Given the description of an element on the screen output the (x, y) to click on. 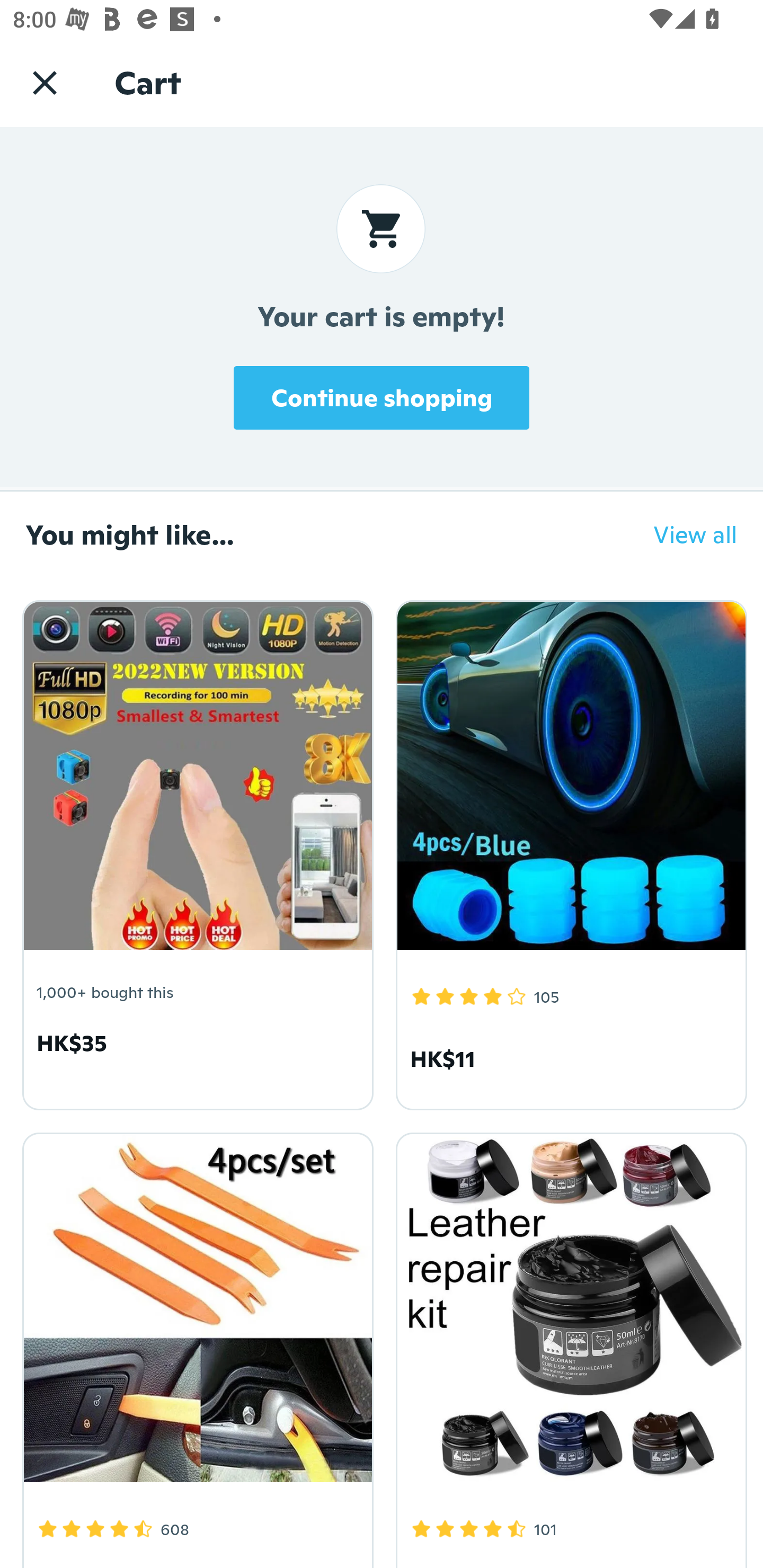
Navigate up (44, 82)
Continue shopping (381, 397)
View all (682, 534)
1,000+ bought this HK$35 (194, 852)
3.9 Star Rating 105 HK$11 (567, 852)
4.4 Star Rating 608 (194, 1346)
4.4 Star Rating 101 (567, 1346)
